Given the description of an element on the screen output the (x, y) to click on. 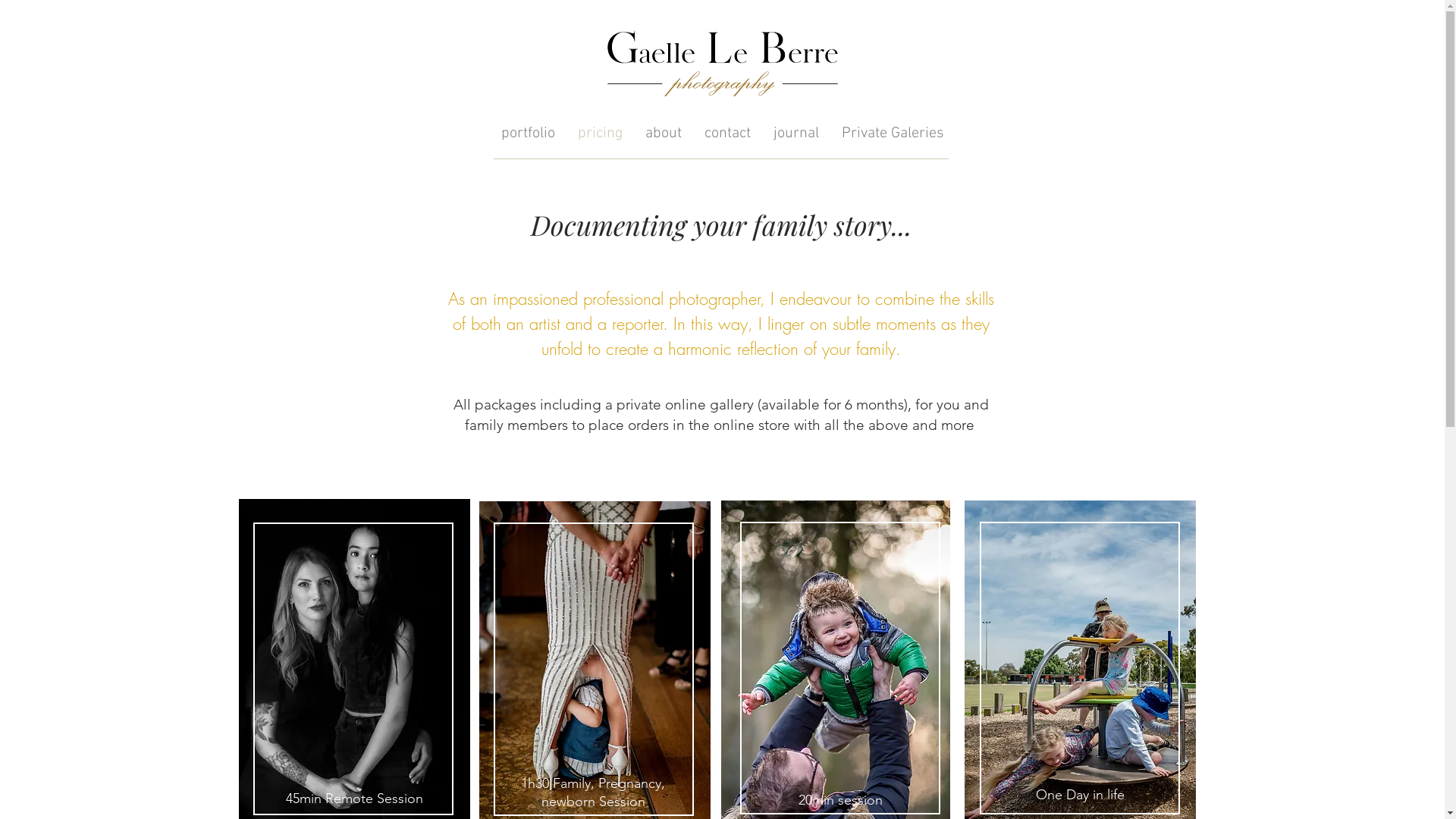
contact Element type: text (727, 131)
journal Element type: text (796, 131)
online gallery Element type: text (709, 404)
Private Galeries Element type: text (892, 131)
pricing Element type: text (599, 131)
about Element type: text (663, 131)
portfolio Element type: text (527, 131)
